Given the description of an element on the screen output the (x, y) to click on. 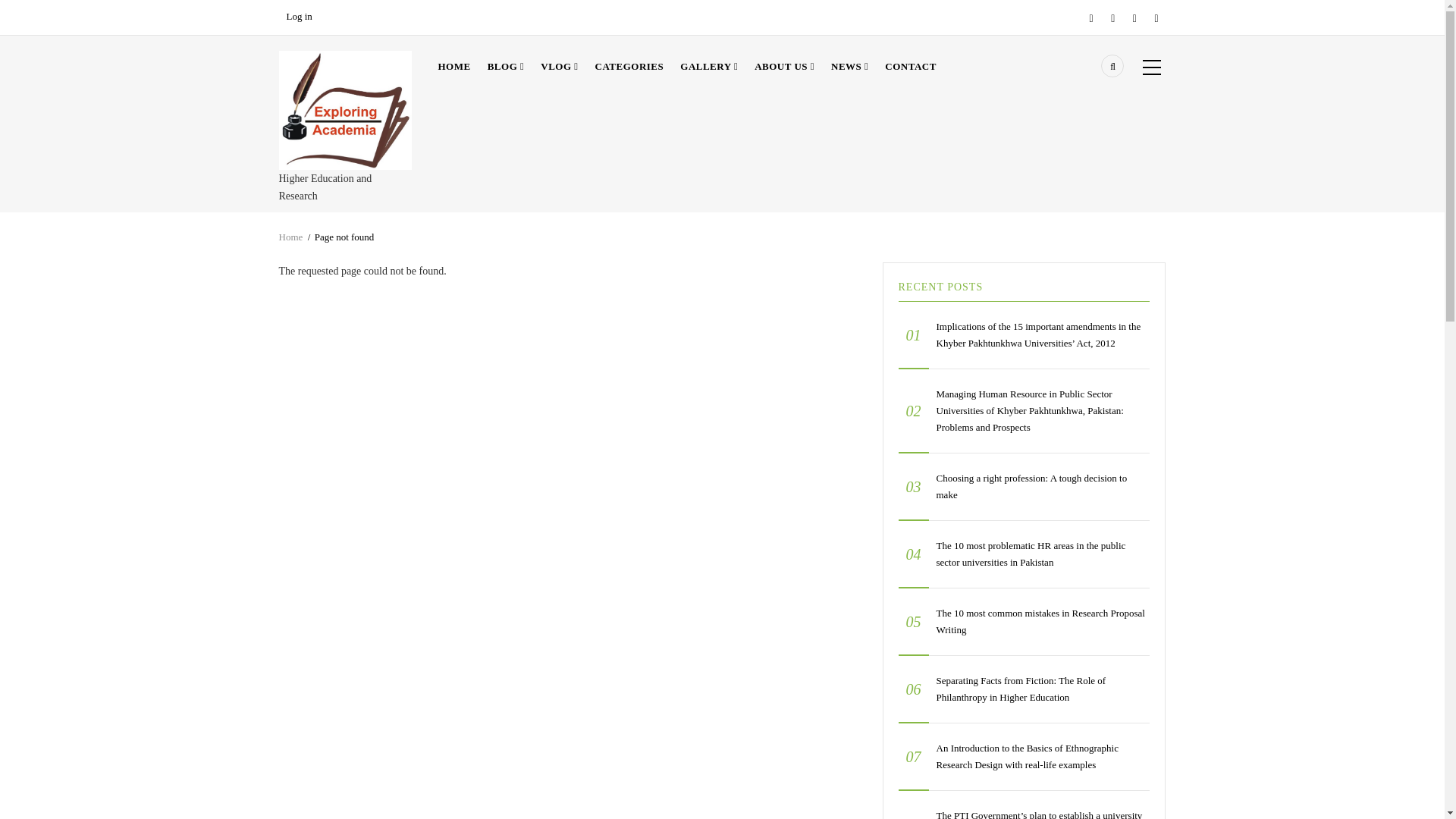
Home (345, 109)
Log in (299, 16)
